Given the description of an element on the screen output the (x, y) to click on. 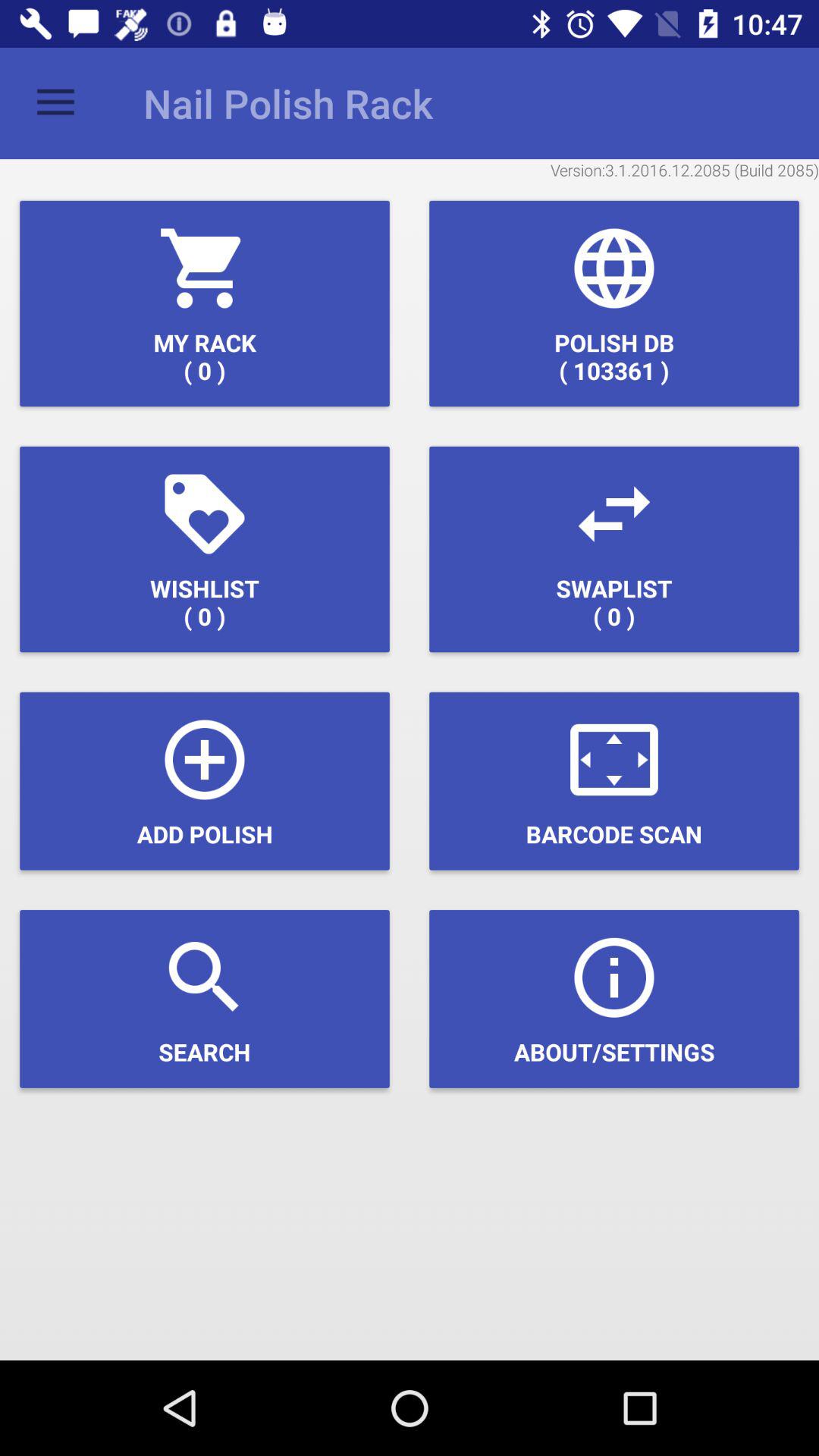
flip until the swaplist
( 0 ) (614, 549)
